Given the description of an element on the screen output the (x, y) to click on. 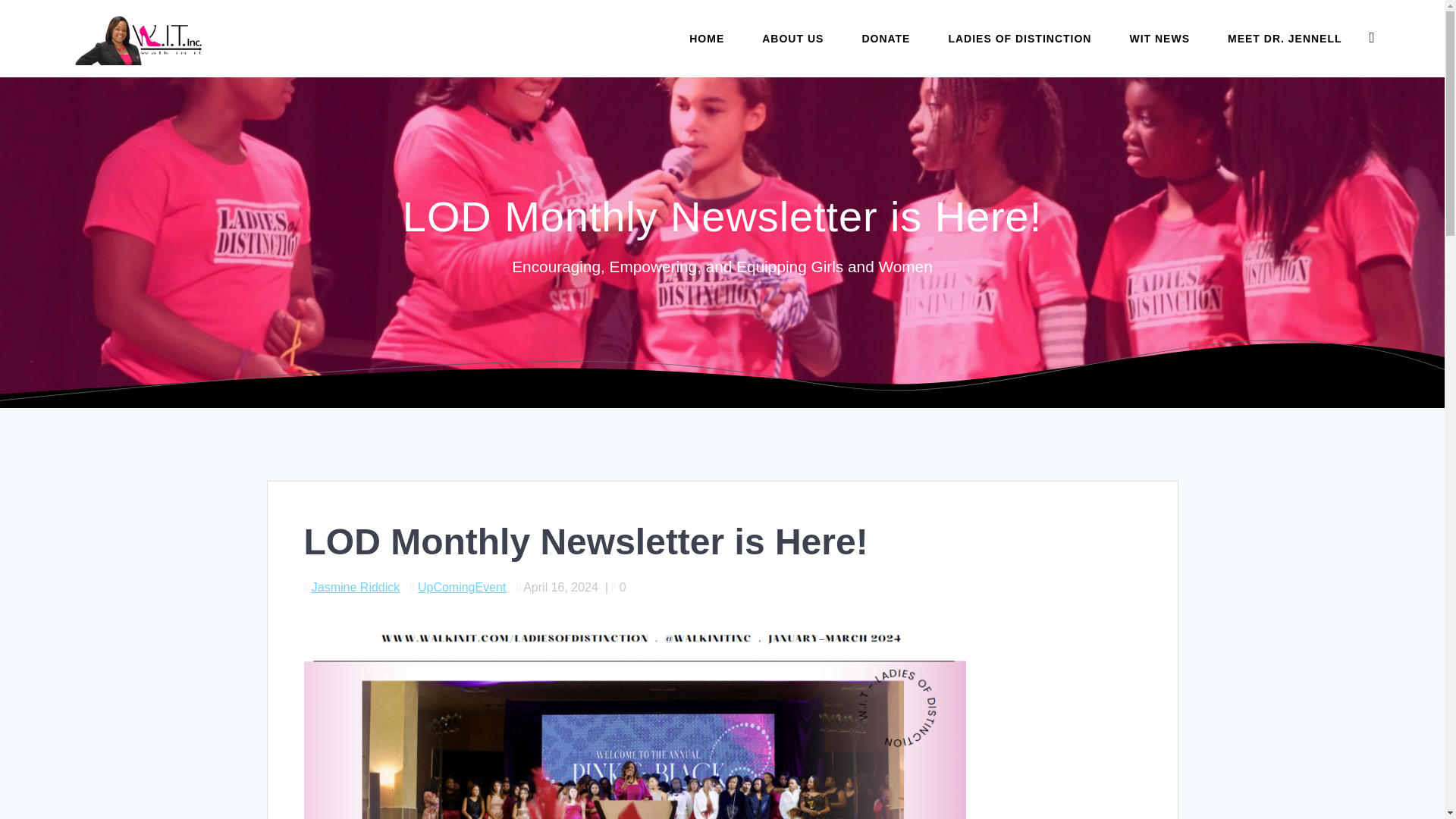
HOME (706, 38)
UpComingEvent (461, 586)
Posts by Jasmine Riddick (354, 586)
Jasmine Riddick (354, 586)
MEET DR. JENNELL (1284, 38)
LADIES OF DISTINCTION (1019, 38)
WIT NEWS (1159, 38)
ABOUT US (792, 38)
DONATE (884, 38)
